Given the description of an element on the screen output the (x, y) to click on. 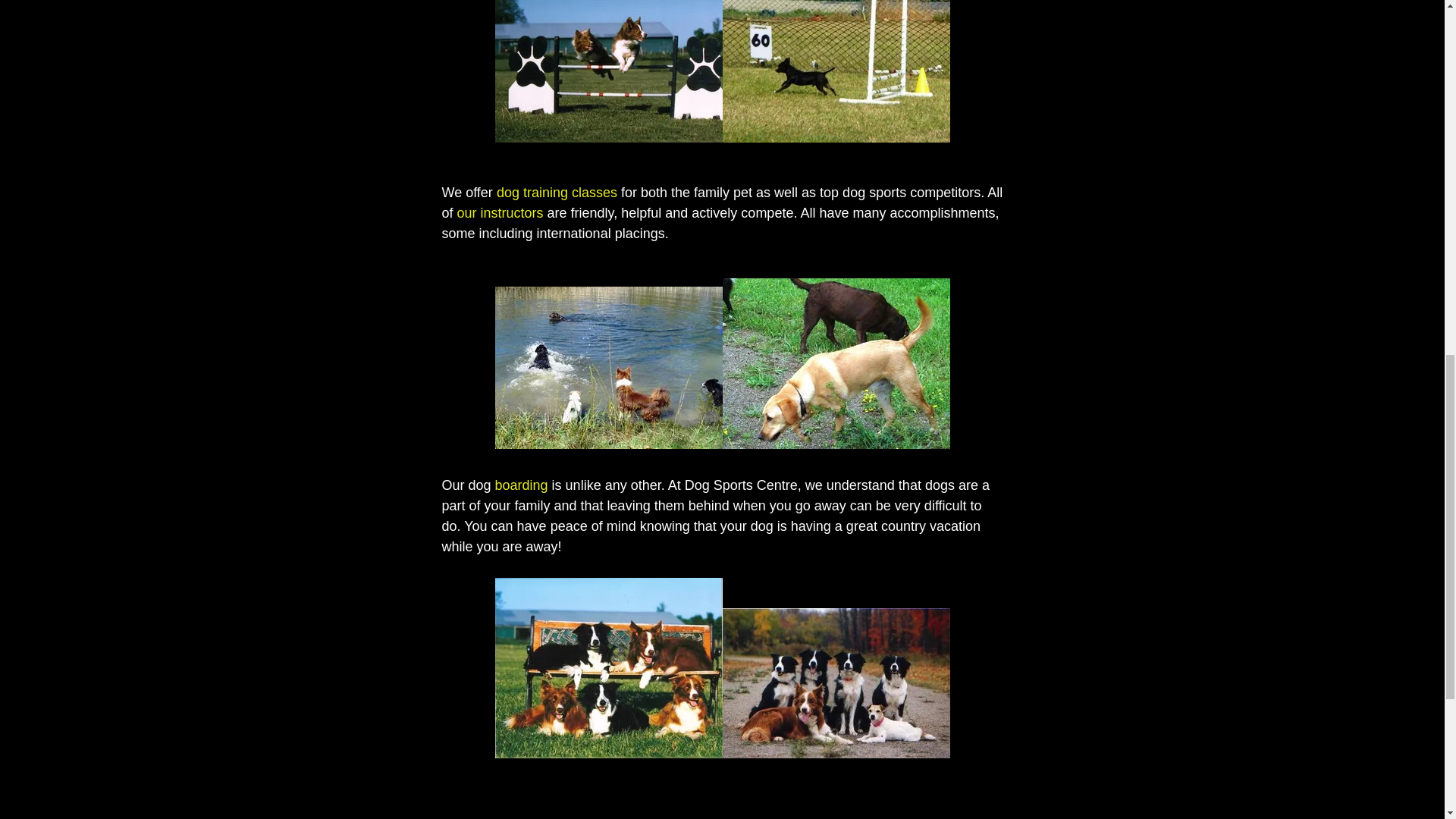
our instructors (500, 212)
boarding (521, 485)
dog training classes (556, 192)
